Given the description of an element on the screen output the (x, y) to click on. 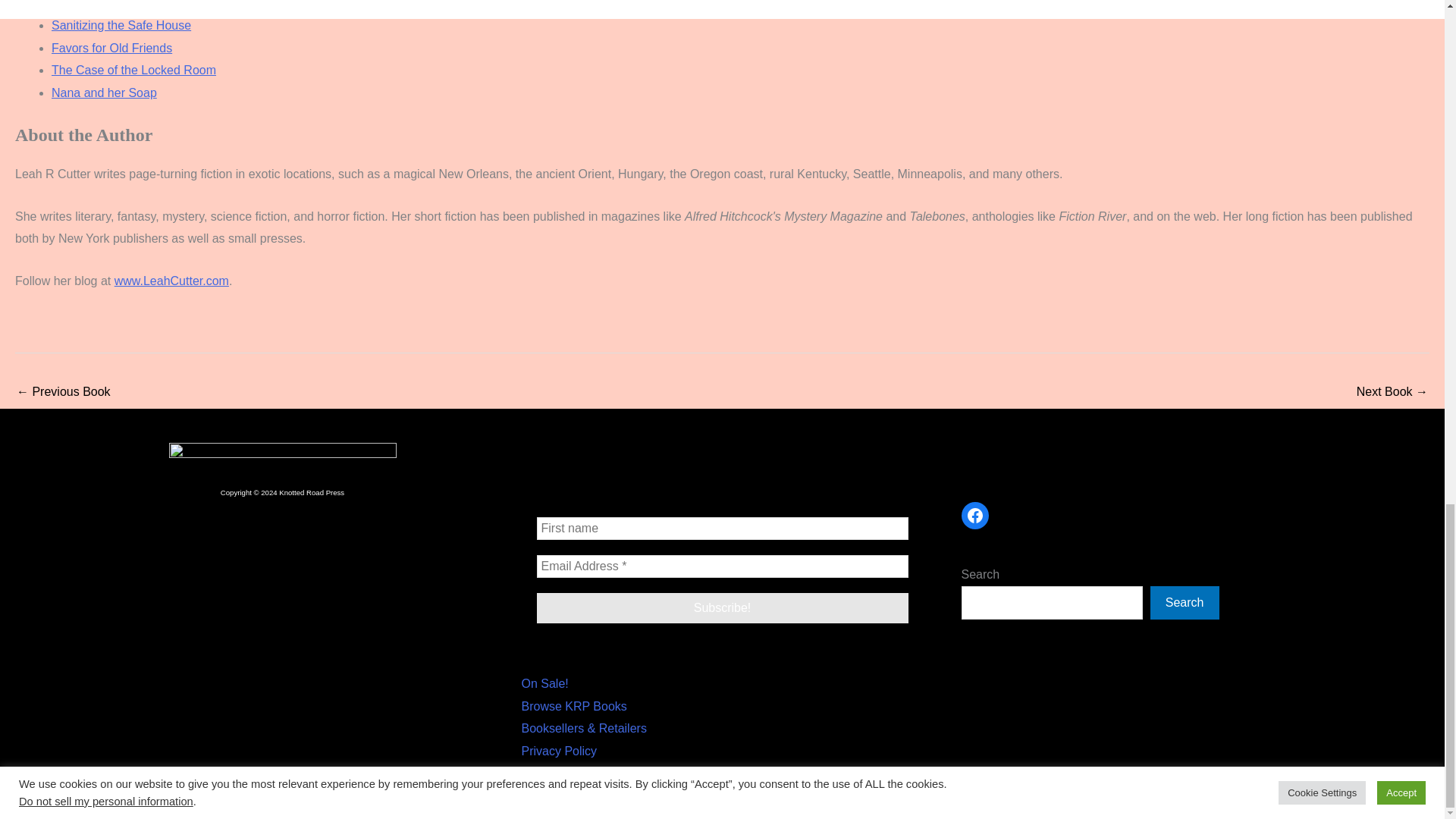
Sanitizing the Safe House (1392, 393)
First name (722, 527)
Consensus at Aditi (63, 393)
Subscribe! (722, 607)
Email Address (722, 566)
